Given the description of an element on the screen output the (x, y) to click on. 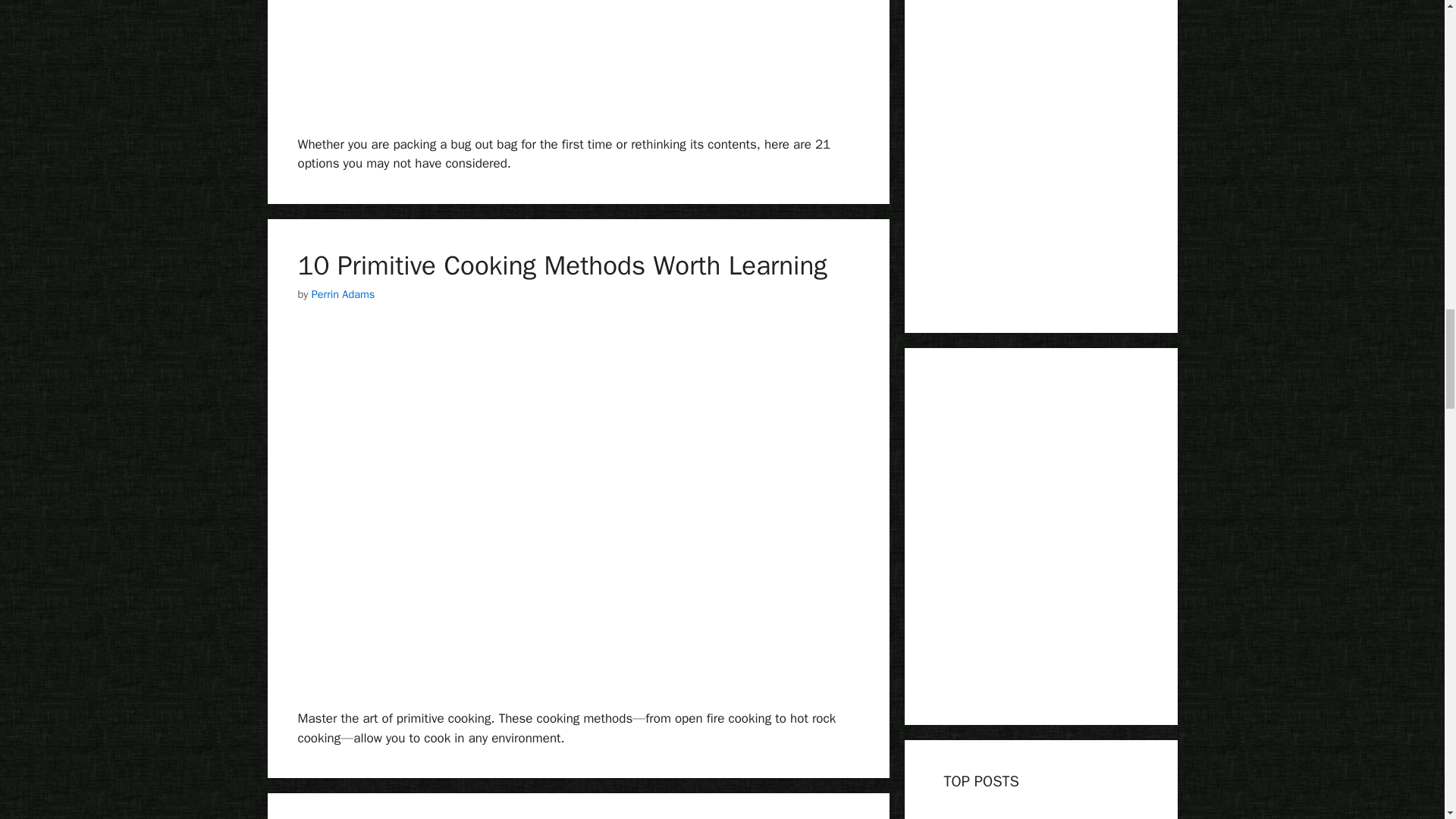
View all posts by Perrin Adams (343, 294)
